Given the description of an element on the screen output the (x, y) to click on. 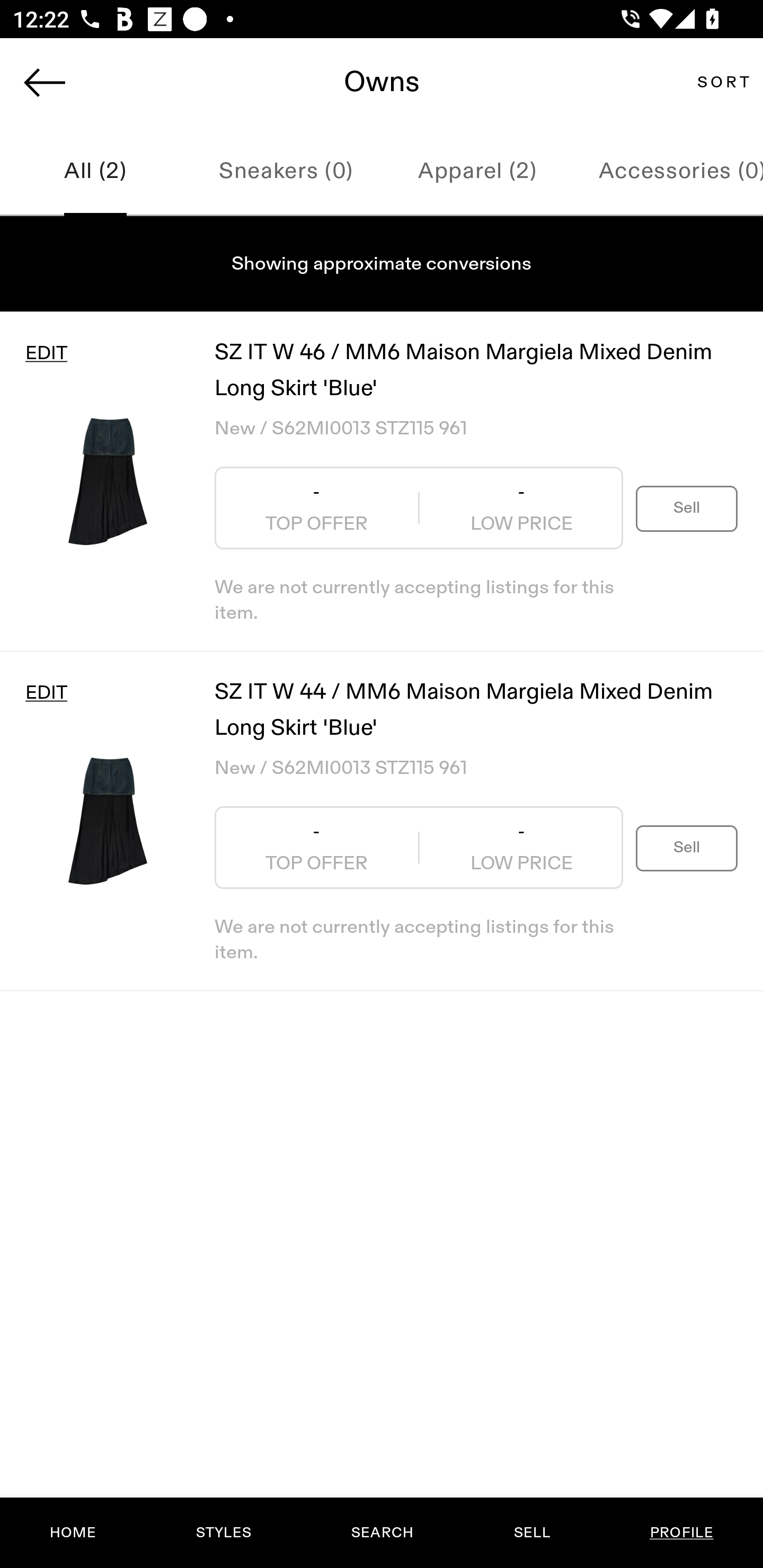
SORT (722, 81)
Sneakers (0) (285, 171)
Apparel (2) (476, 171)
Accessories (0) (667, 171)
EDIT (46, 352)
- - TOP OFFER LOW PRICE (418, 507)
Sell (686, 507)
EDIT (46, 692)
- - TOP OFFER LOW PRICE (418, 847)
Sell (686, 847)
HOME (72, 1532)
STYLES (222, 1532)
SEARCH (381, 1532)
SELL (531, 1532)
PROFILE (681, 1532)
